Given the description of an element on the screen output the (x, y) to click on. 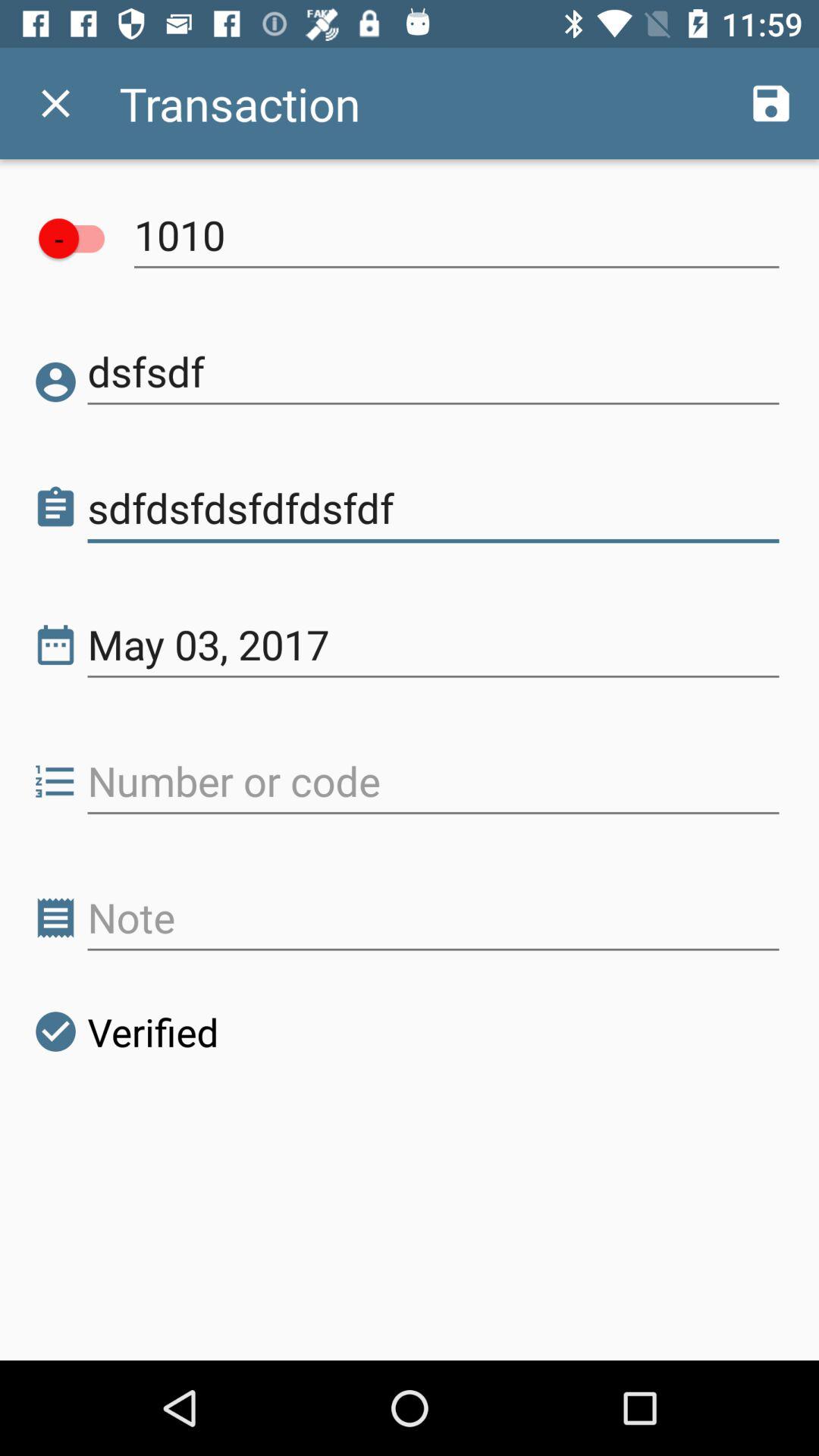
turn on icon to the left of sdfdsfdsfdfdsfdf (55, 508)
